Given the description of an element on the screen output the (x, y) to click on. 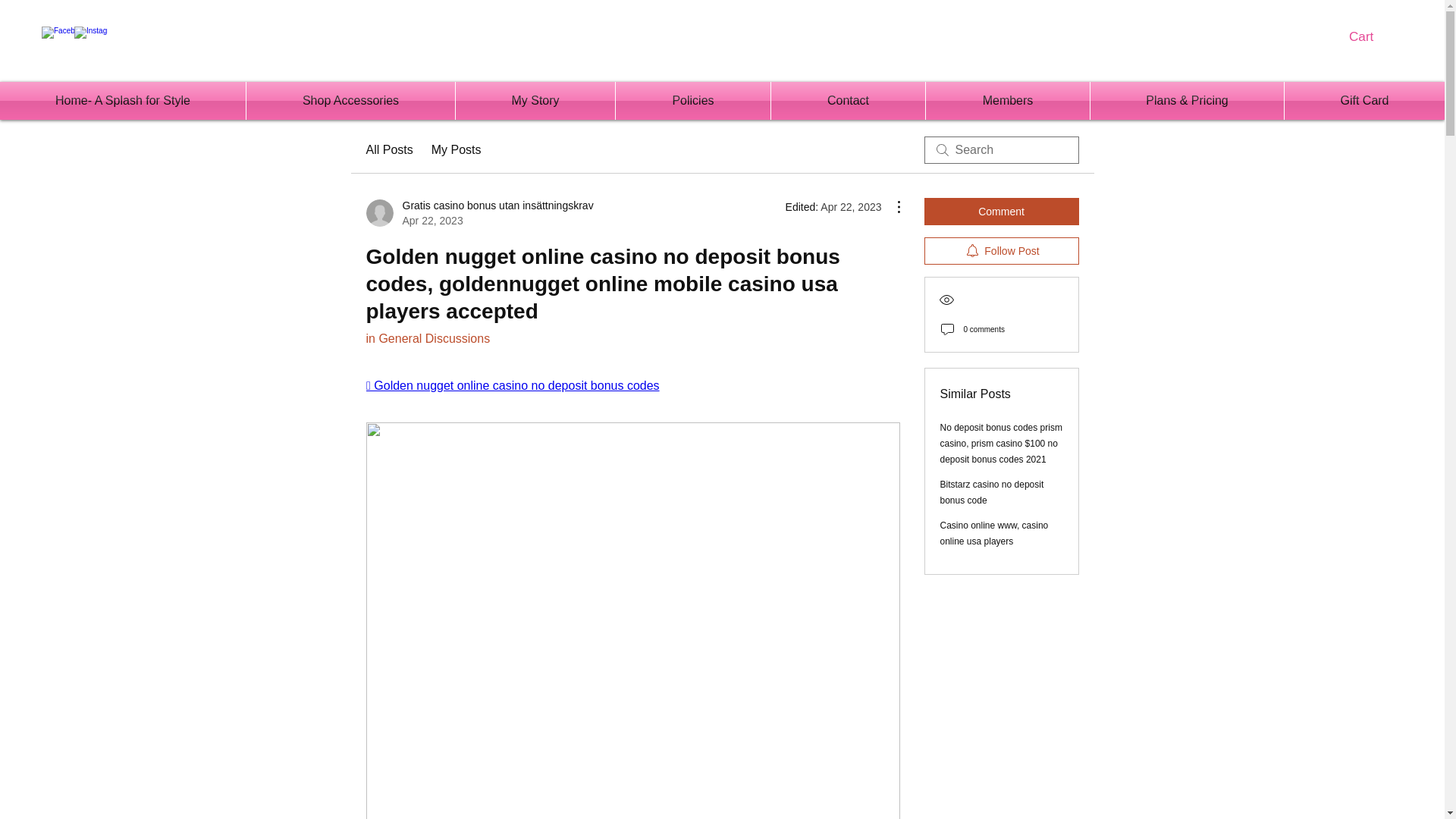
Bitstarz casino no deposit bonus code (991, 492)
Shop Accessories (350, 100)
Cart (1369, 36)
Follow Post (1000, 250)
in General Discussions (427, 338)
Policies (692, 100)
Comment (1000, 211)
All Posts (388, 149)
My Posts (455, 149)
Contact (847, 100)
Members (1007, 100)
Casino online www, casino online usa players (994, 533)
Cart (1369, 36)
My Story (534, 100)
Home- A Splash for Style (123, 100)
